Given the description of an element on the screen output the (x, y) to click on. 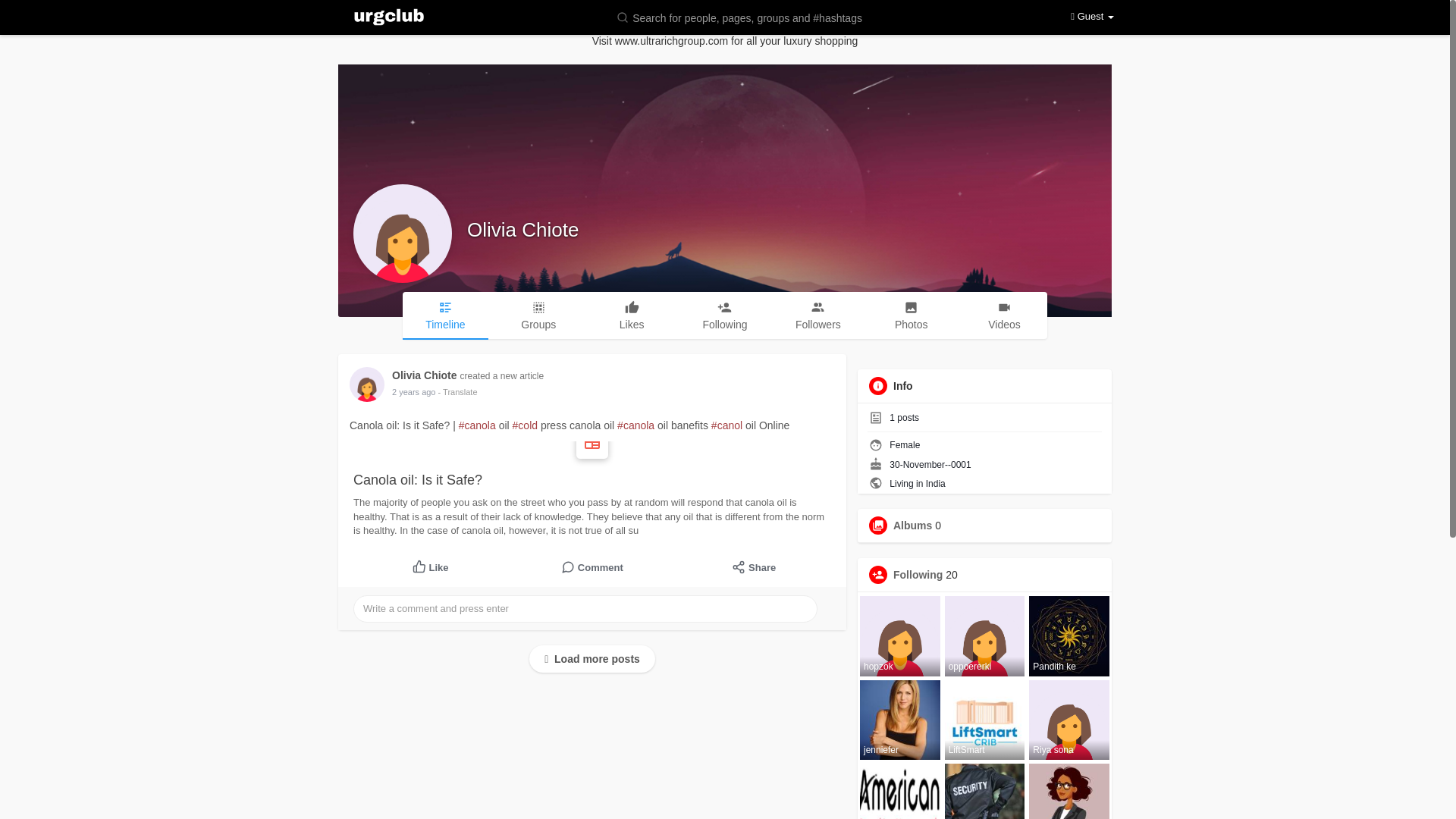
Followers (817, 314)
Pandith ke (1069, 636)
Groups (538, 314)
Adam Leon (984, 791)
Guest (1091, 17)
Following (917, 574)
LiftSmart (984, 719)
Olivia Chiote (427, 375)
American N (900, 791)
Following (725, 314)
Olivia Chiote (522, 229)
Photos (910, 314)
Translate (457, 391)
Share (753, 567)
